Given the description of an element on the screen output the (x, y) to click on. 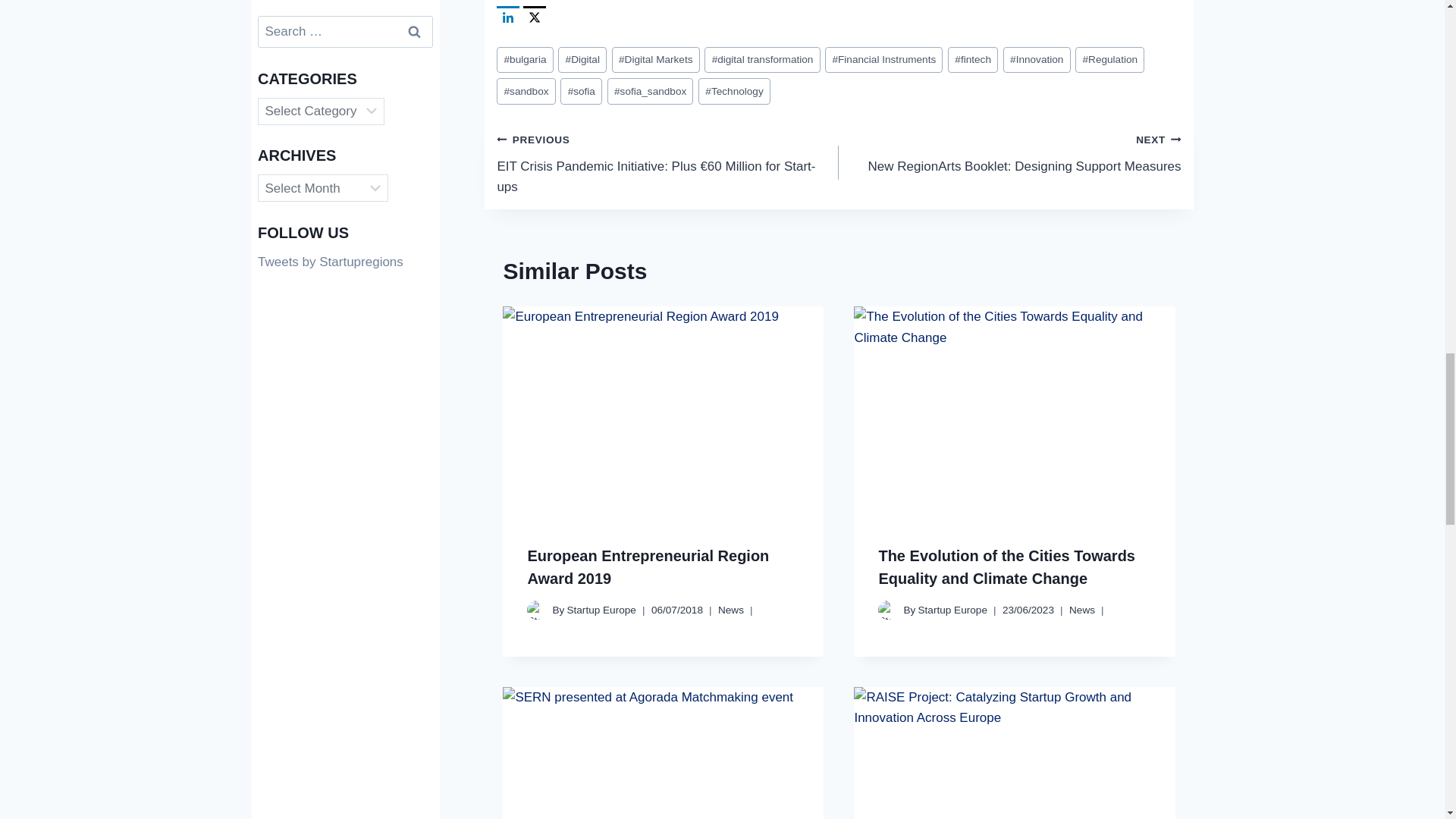
bulgaria (524, 59)
fintech (972, 59)
Technology (734, 90)
sandbox (525, 90)
Financial Instruments (883, 59)
Regulation (1109, 59)
sofia (581, 90)
Digital Markets (655, 59)
Innovation (1036, 59)
digital transformation (761, 59)
